Given the description of an element on the screen output the (x, y) to click on. 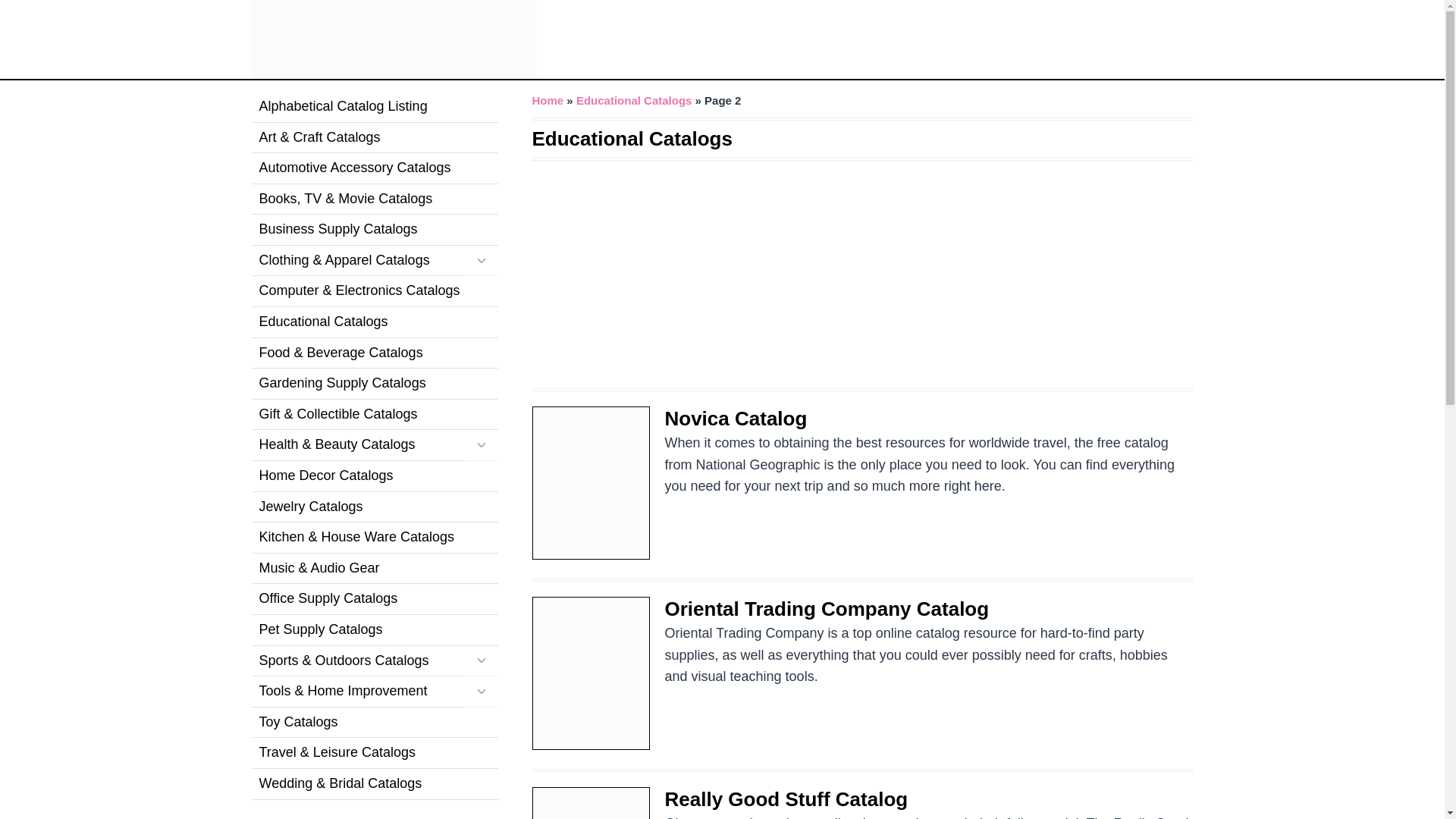
Gardening Supply Catalogs (374, 383)
Oriental Trading Company Catalog (825, 608)
Toggle child menu (480, 260)
Home (548, 100)
Automotive Accessory Catalogs (374, 168)
Really Good Stuff Catalog (785, 798)
Business Supply Catalogs (374, 229)
Novica Catalog (734, 418)
Alphabetical Catalog Listing (374, 106)
